Given the description of an element on the screen output the (x, y) to click on. 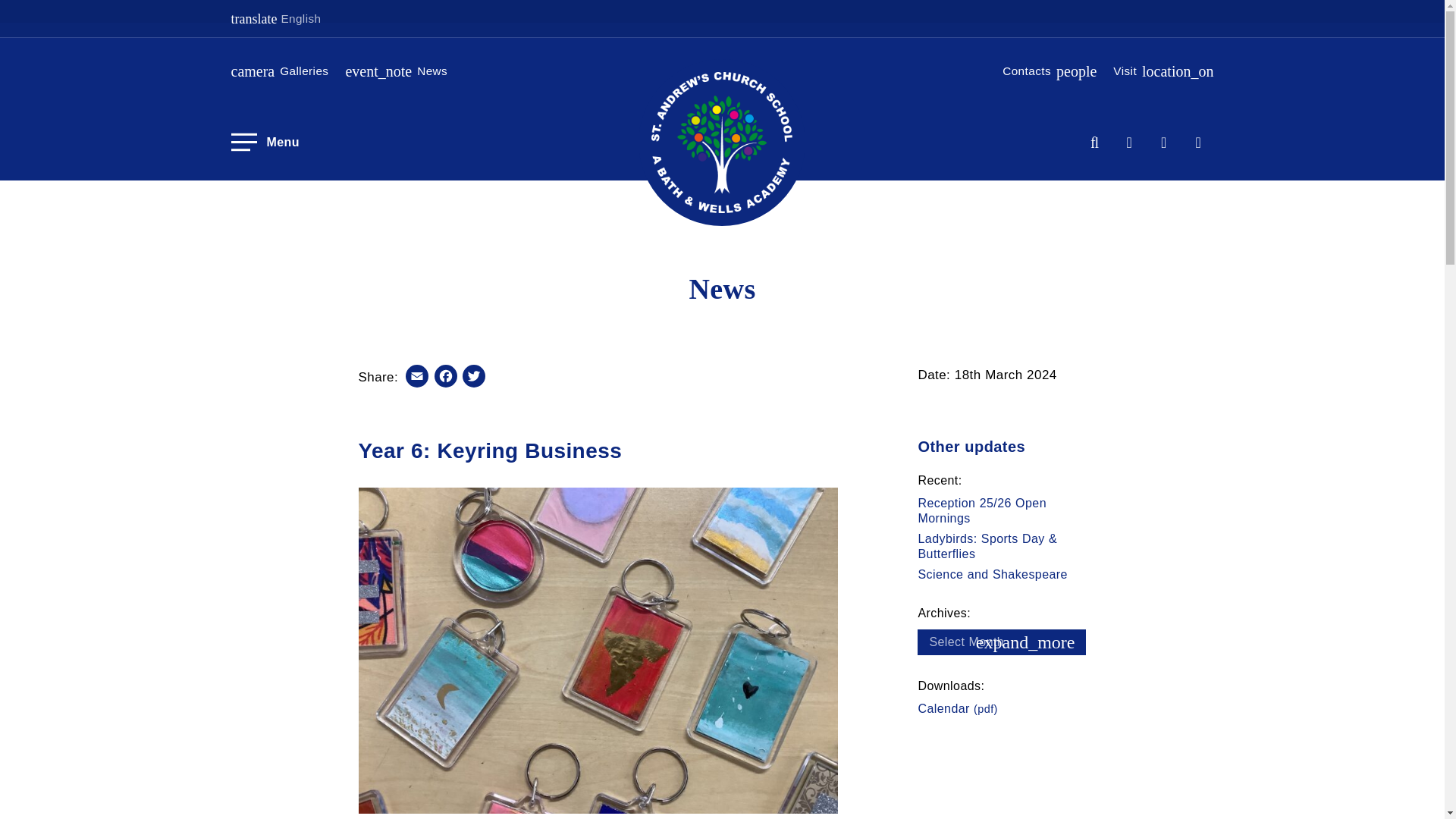
Twitter (281, 70)
Facebook (1046, 70)
Email (473, 377)
